Given the description of an element on the screen output the (x, y) to click on. 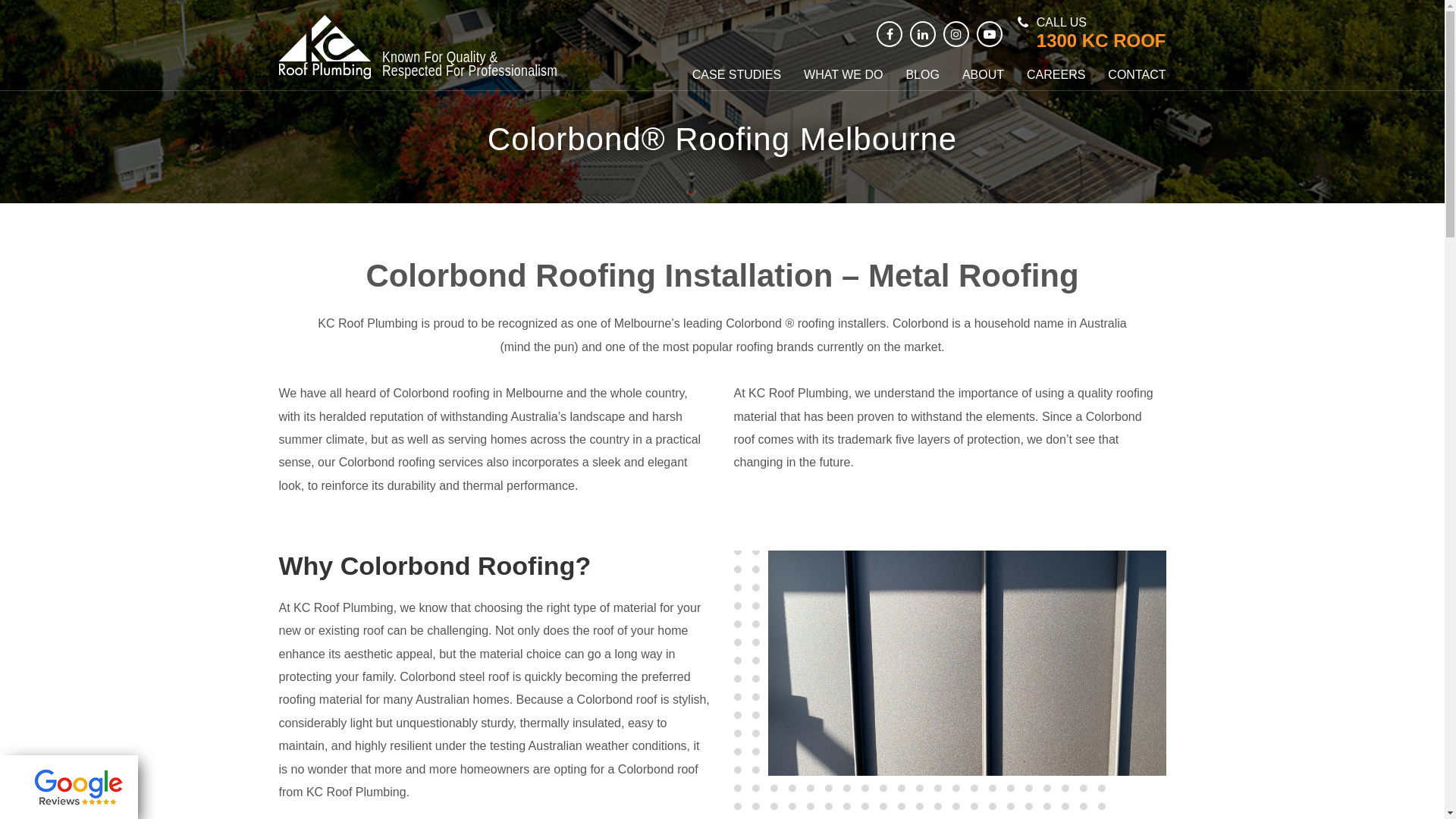
CONTACT Element type: text (1136, 74)
Instagram Element type: hover (956, 34)
CASE STUDIES Element type: text (736, 74)
WHAT WE DO Element type: text (843, 74)
CAREERS Element type: text (1055, 74)
YouTube Element type: hover (989, 34)
1300 KC ROOF Element type: text (1101, 40)
ABOUT Element type: text (982, 74)
BLOG Element type: text (922, 74)
LinkedIn Element type: hover (922, 34)
Facebook Element type: hover (889, 34)
